Given the description of an element on the screen output the (x, y) to click on. 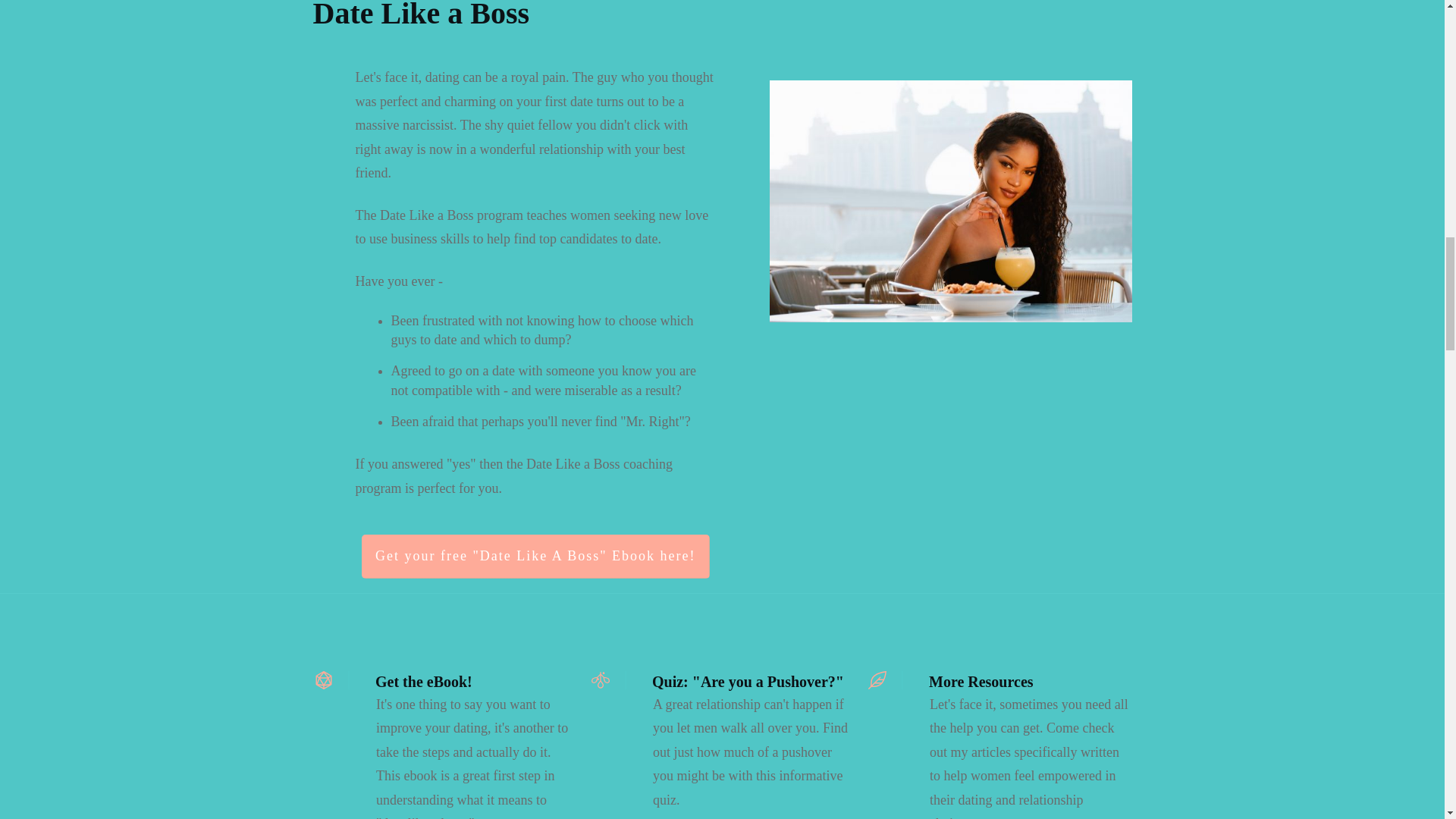
Get your free "Date Like A Boss" Ebook here! (535, 556)
christina-moroz-6owRy6kxyCg-unsplash (951, 201)
